Given the description of an element on the screen output the (x, y) to click on. 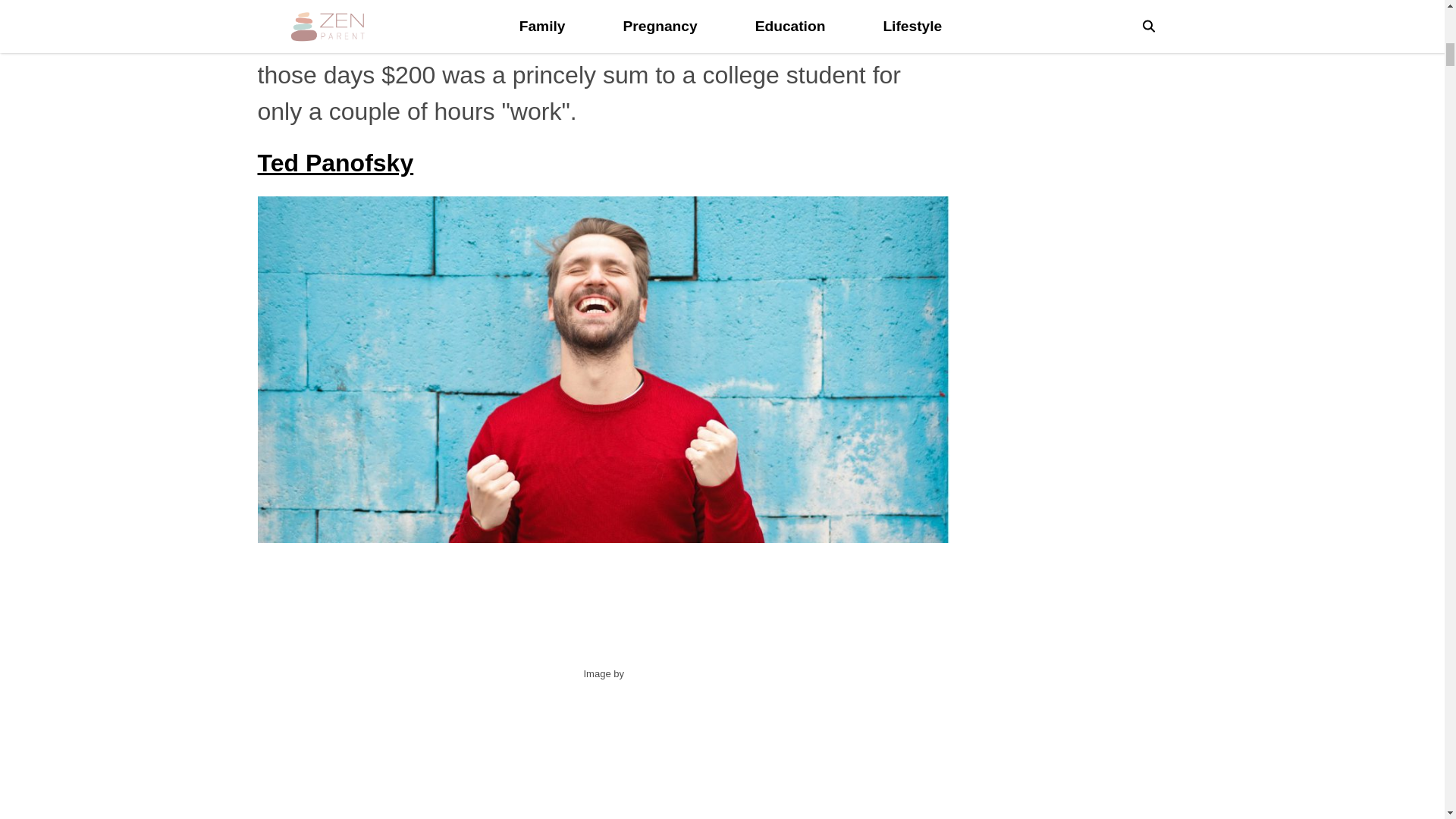
Ted Panofsky (335, 162)
